Given the description of an element on the screen output the (x, y) to click on. 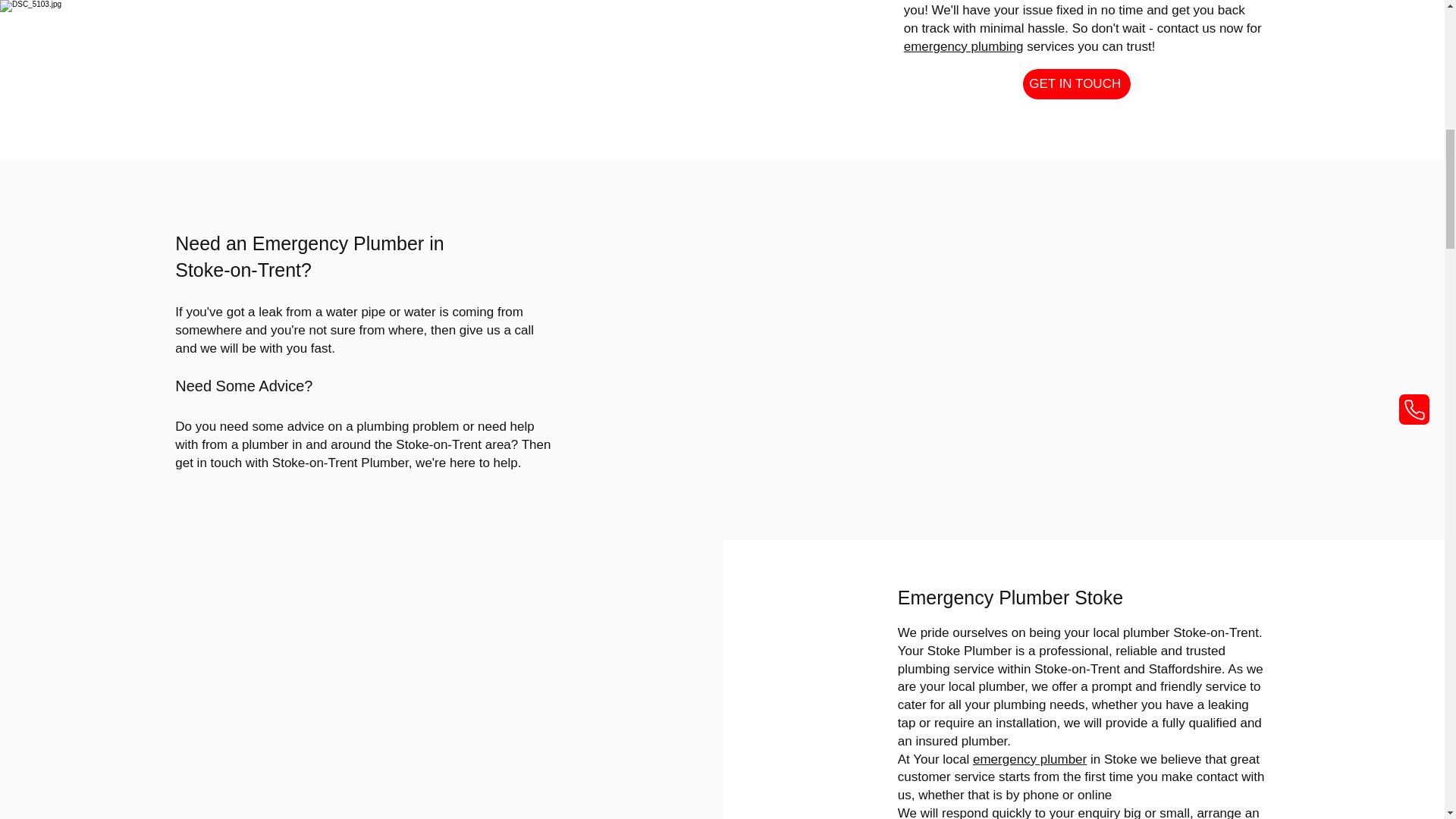
emergency plumber (1029, 759)
Emergency Plumber in Stoke-on-Trent (309, 256)
emergency plumbing (963, 46)
GET IN TOUCH (1077, 83)
